Given the description of an element on the screen output the (x, y) to click on. 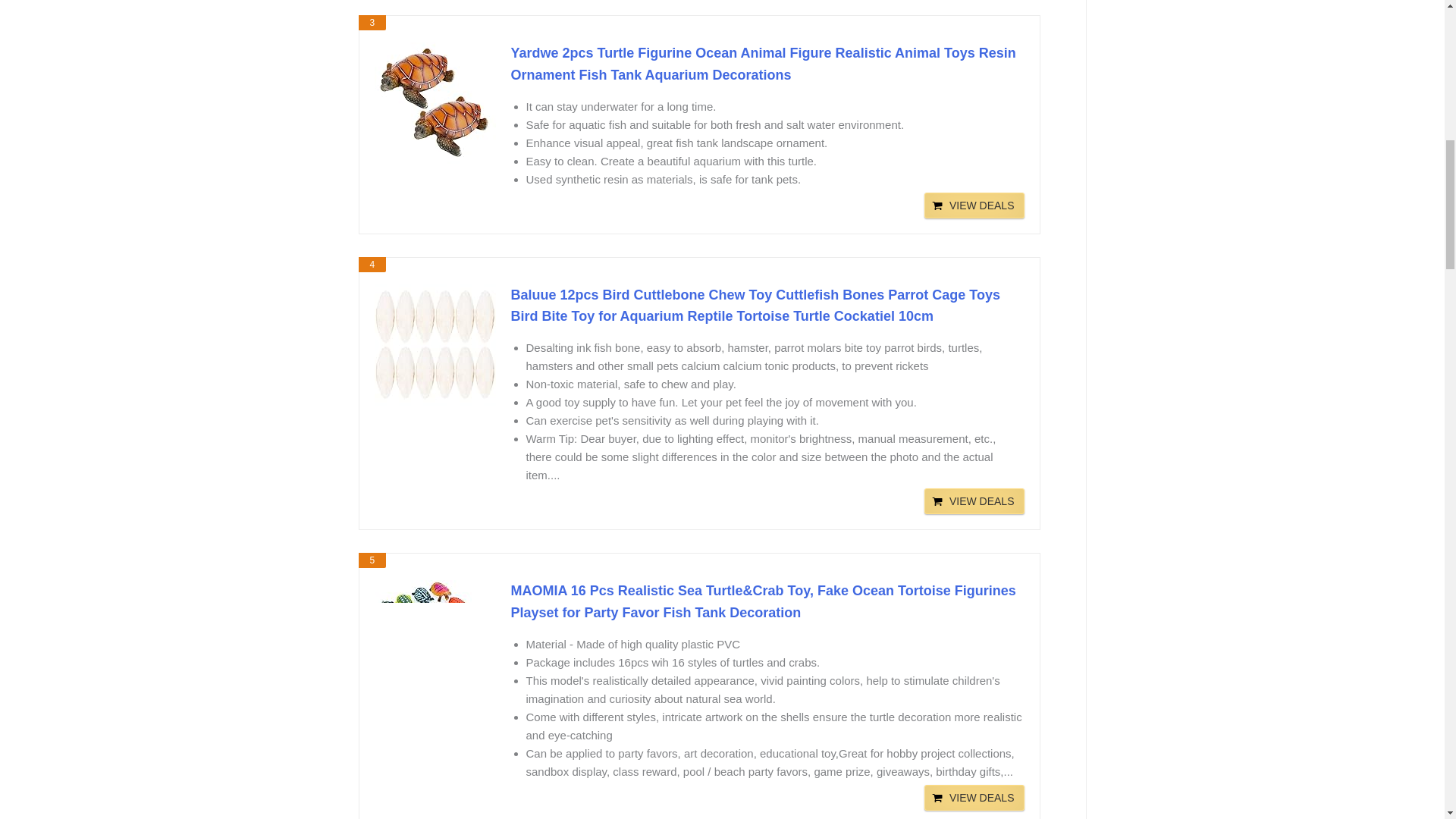
VIEW DEALS (974, 797)
VIEW DEALS (974, 501)
VIEW DEALS (974, 797)
VIEW DEALS (974, 205)
VIEW DEALS (974, 501)
